Given the description of an element on the screen output the (x, y) to click on. 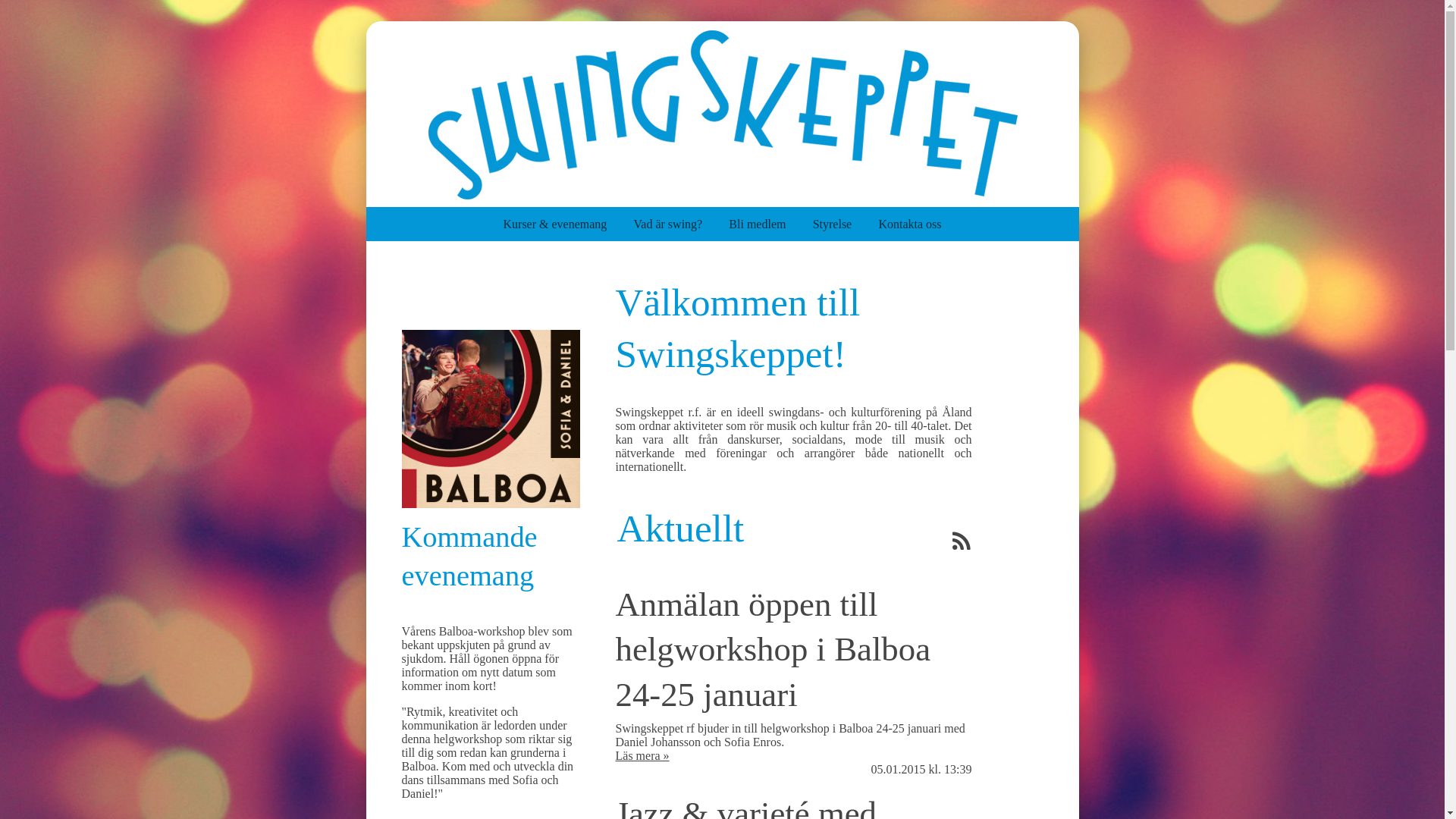
Bli medlem Element type: text (770, 224)
Kurser & evenemang Element type: text (568, 224)
Styrelse Element type: text (845, 224)
Kontakta oss Element type: text (909, 224)
